Given the description of an element on the screen output the (x, y) to click on. 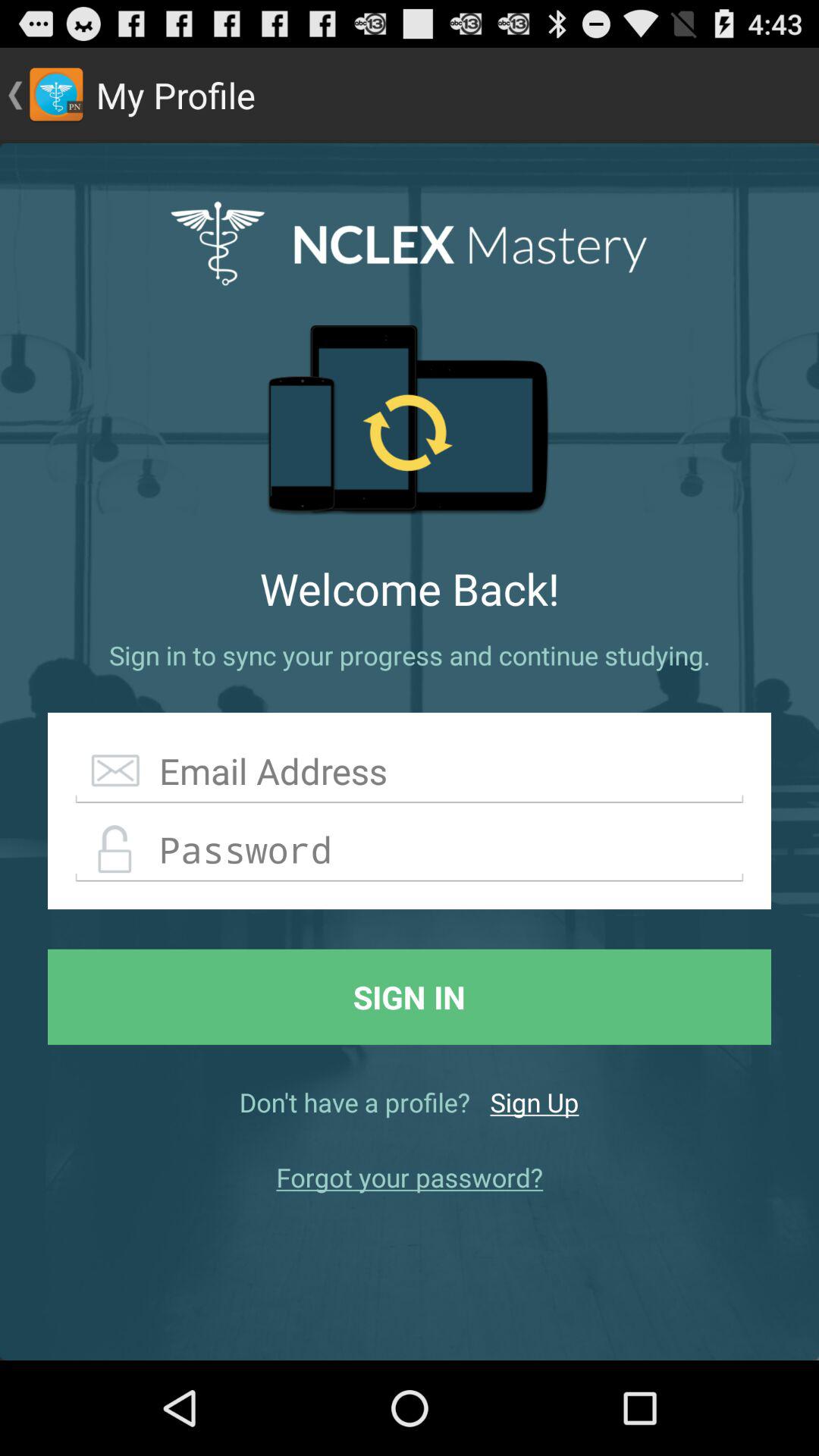
type your password (409, 850)
